Given the description of an element on the screen output the (x, y) to click on. 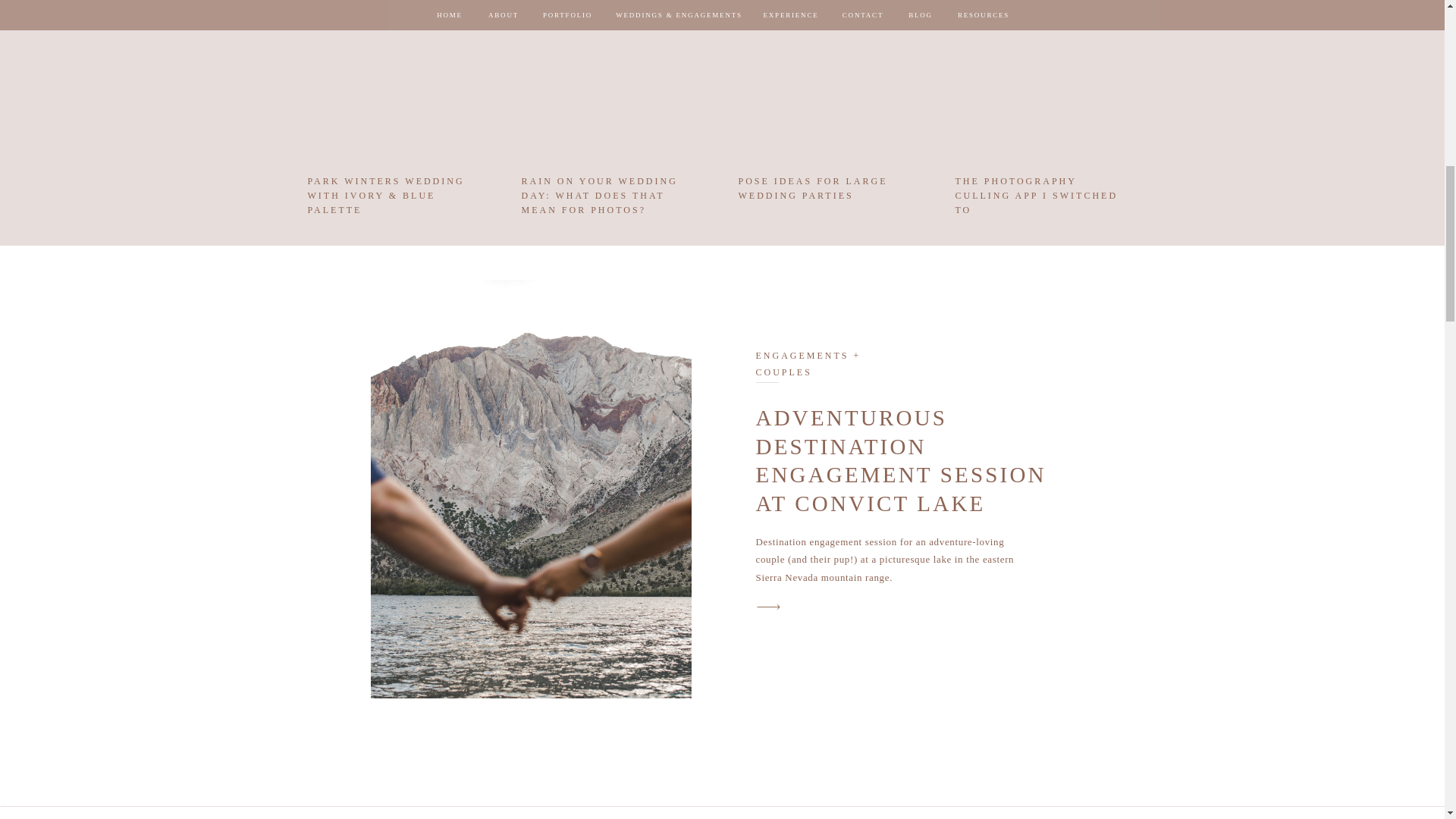
Adventurous Destination Engagement Session at Convict Lake (768, 607)
arrow (768, 607)
